Given the description of an element on the screen output the (x, y) to click on. 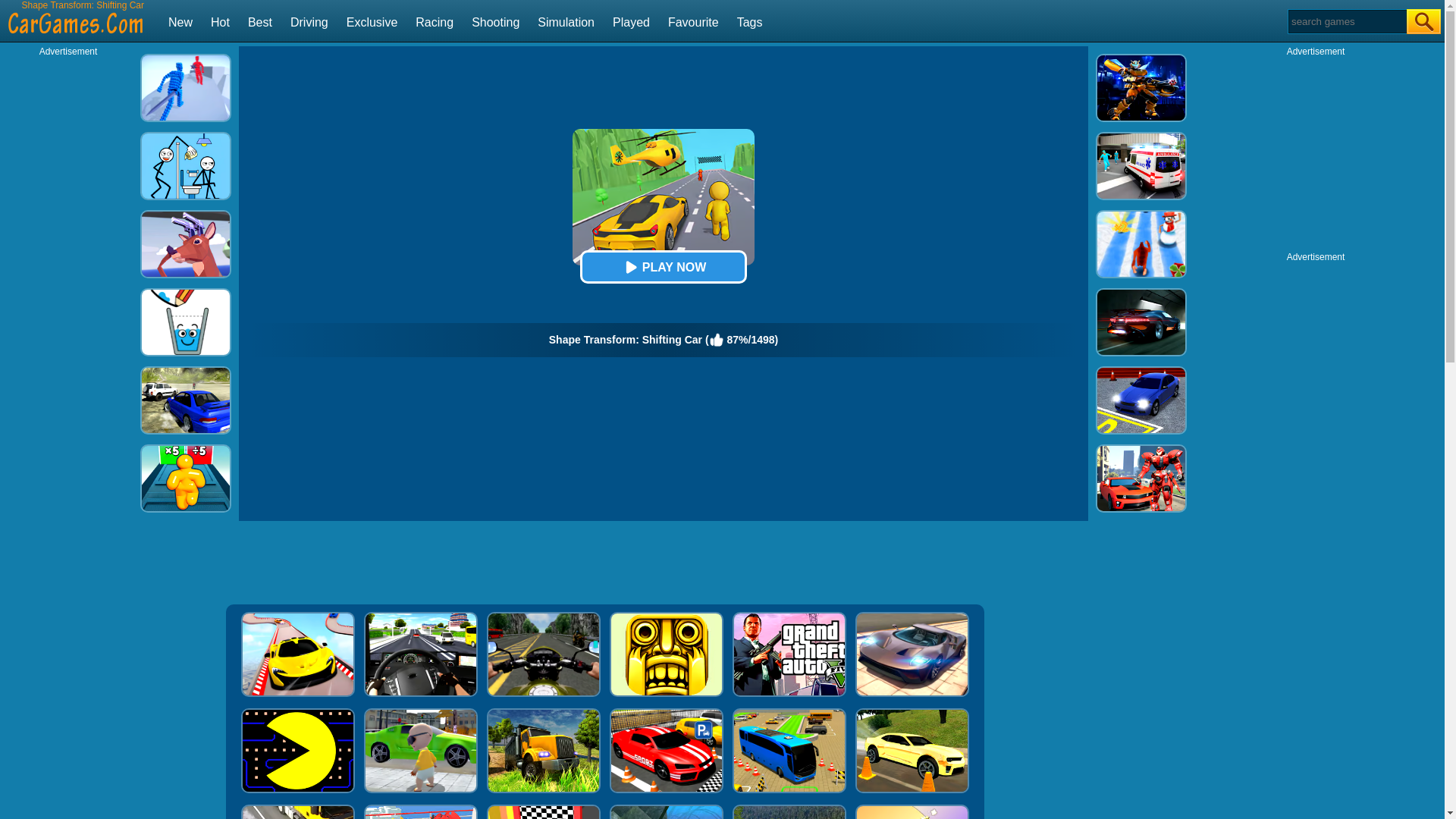
PLAY NOW (662, 266)
Driving (309, 21)
Best (259, 21)
Shooting (495, 21)
Racing (433, 21)
Exclusive (371, 21)
New (180, 21)
Advertisement (603, 562)
Played (630, 21)
Simulation (565, 21)
Hot (220, 21)
Favourite (693, 21)
Tags (749, 21)
Advertisement (1315, 152)
